Given the description of an element on the screen output the (x, y) to click on. 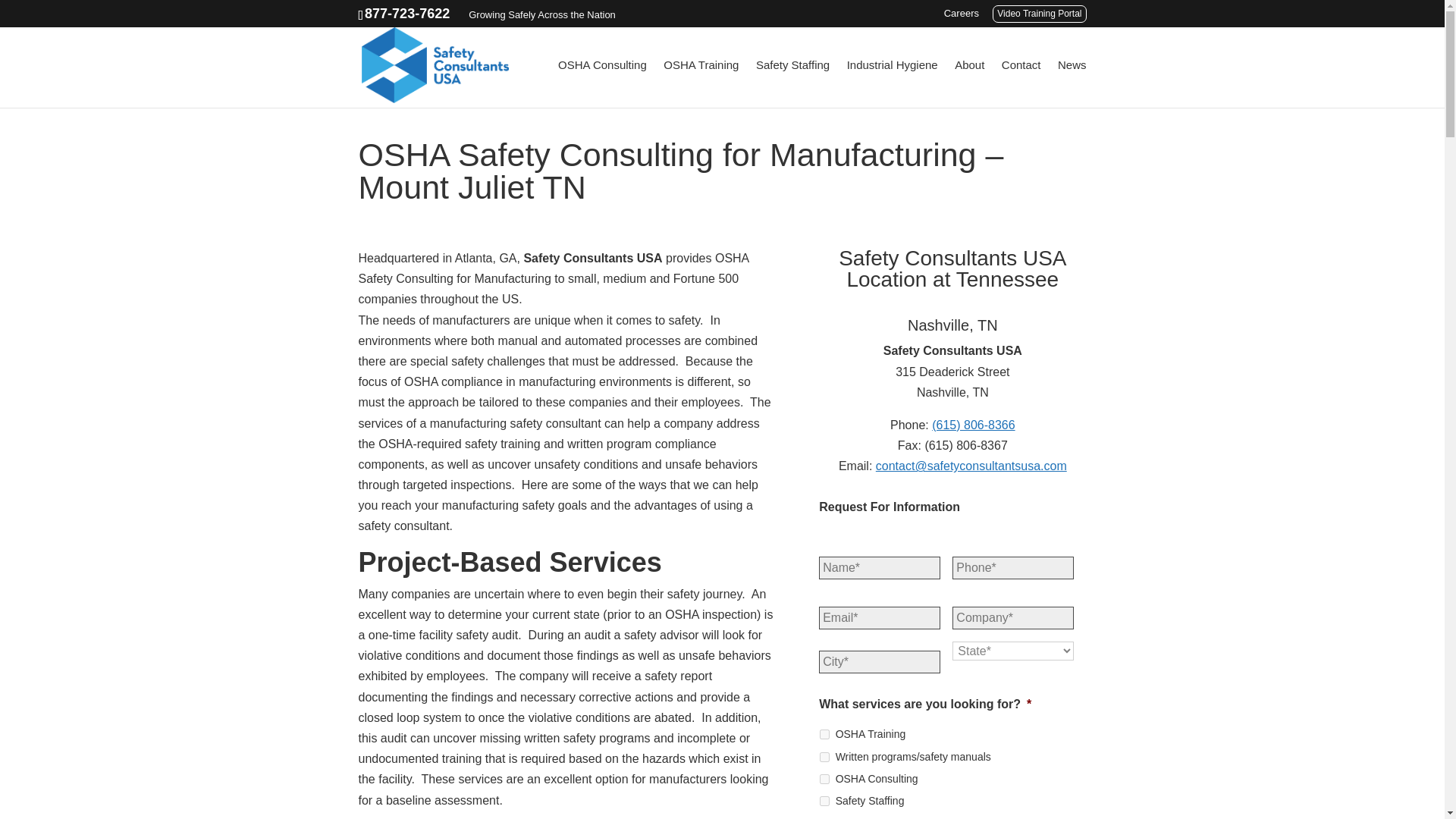
Safety Staffing (824, 800)
OSHA Consulting (824, 778)
Safety Staffing (792, 83)
OSHA Consulting (601, 83)
Careers (960, 17)
OSHA Training (700, 83)
OSHA Training (824, 734)
Industrial Hygiene (892, 83)
Video Training Portal (1039, 13)
877-723-7622 (407, 13)
